Given the description of an element on the screen output the (x, y) to click on. 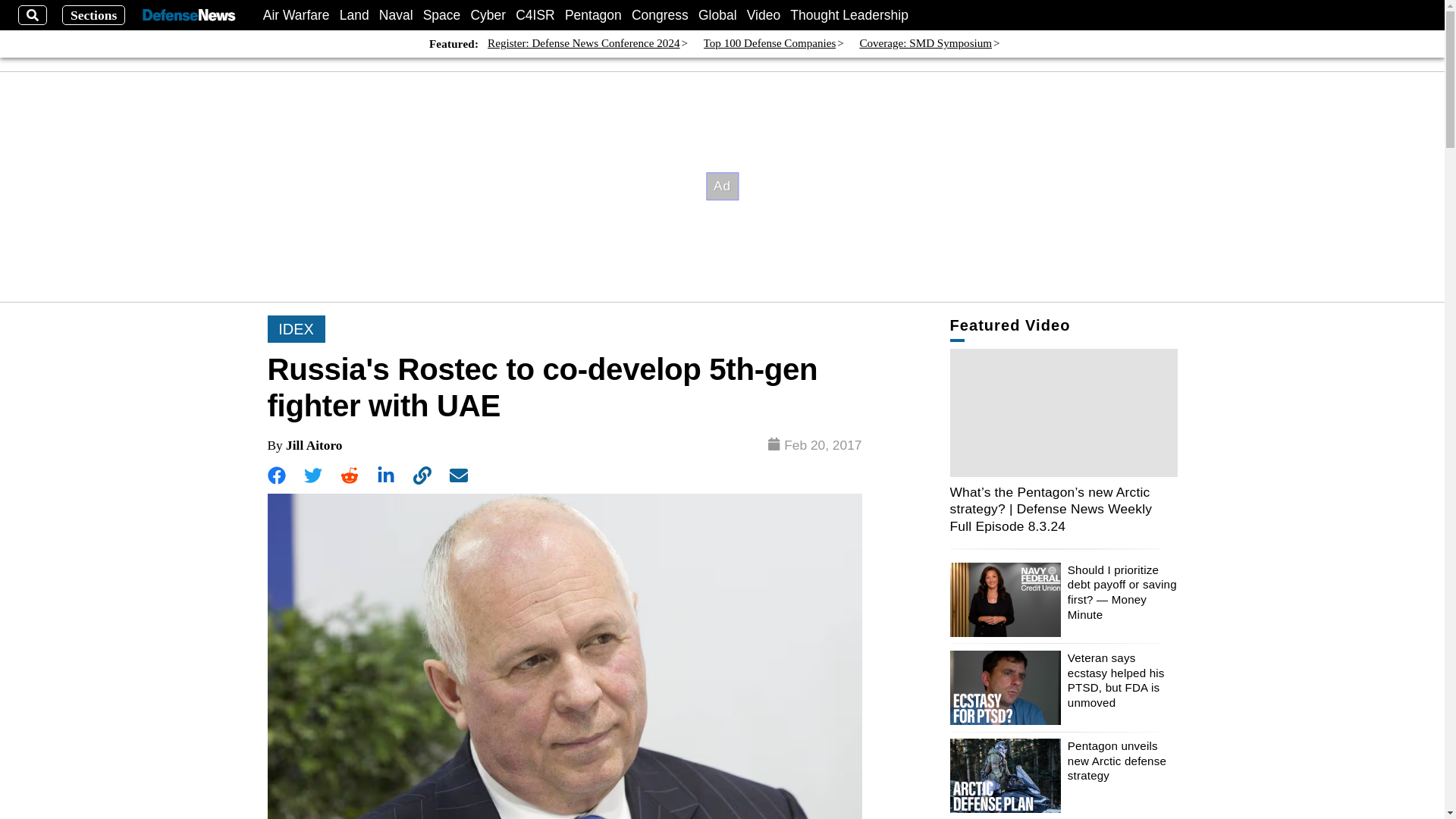
Space (442, 14)
Pentagon (592, 14)
Congress (659, 14)
Thought Leadership (849, 14)
Land (354, 14)
Global (717, 14)
Video (763, 14)
3rd party ad content (722, 186)
Defense News Logo (188, 14)
Naval (395, 14)
